Given the description of an element on the screen output the (x, y) to click on. 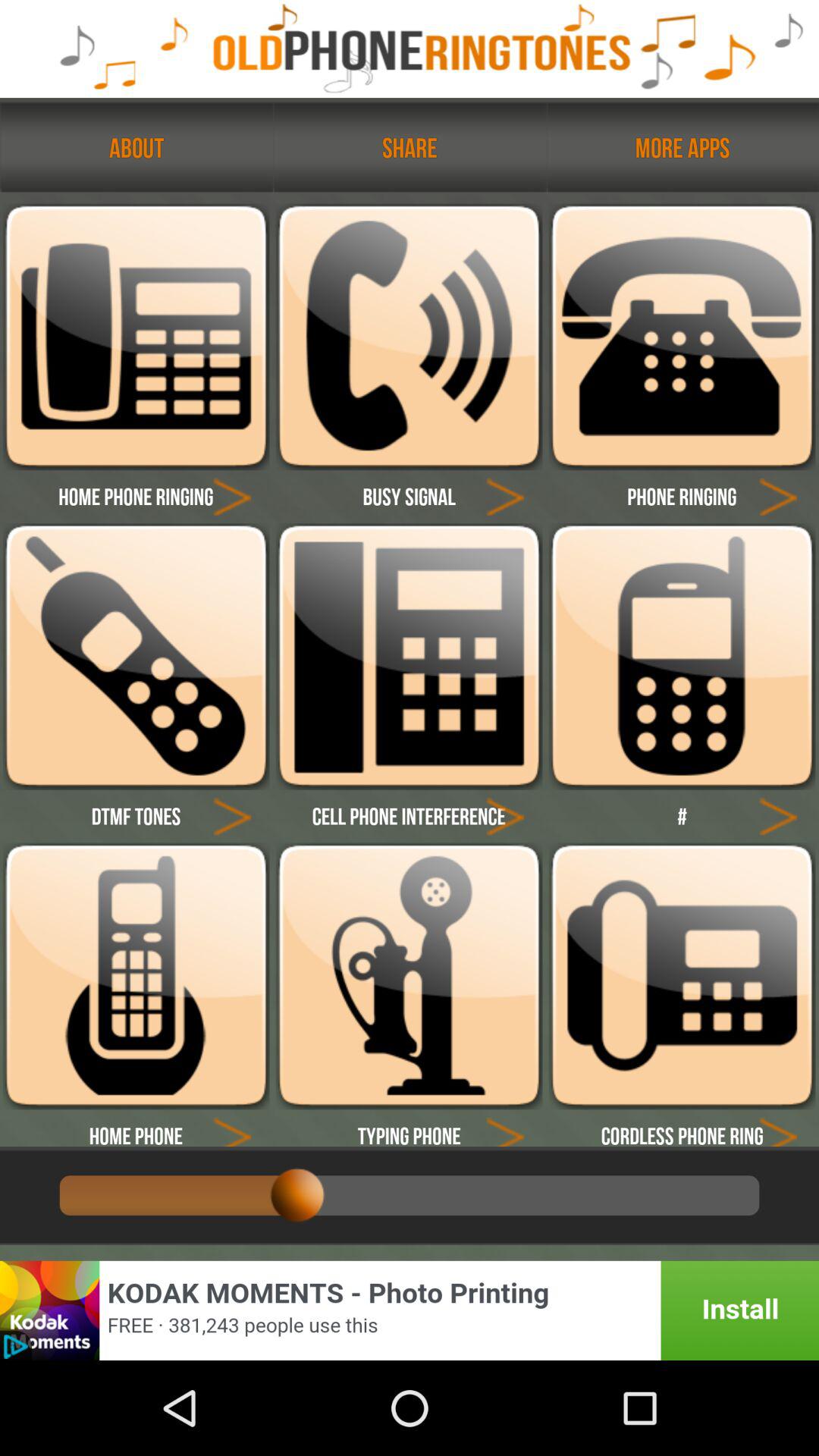
choose busy ringtone (408, 336)
